Given the description of an element on the screen output the (x, y) to click on. 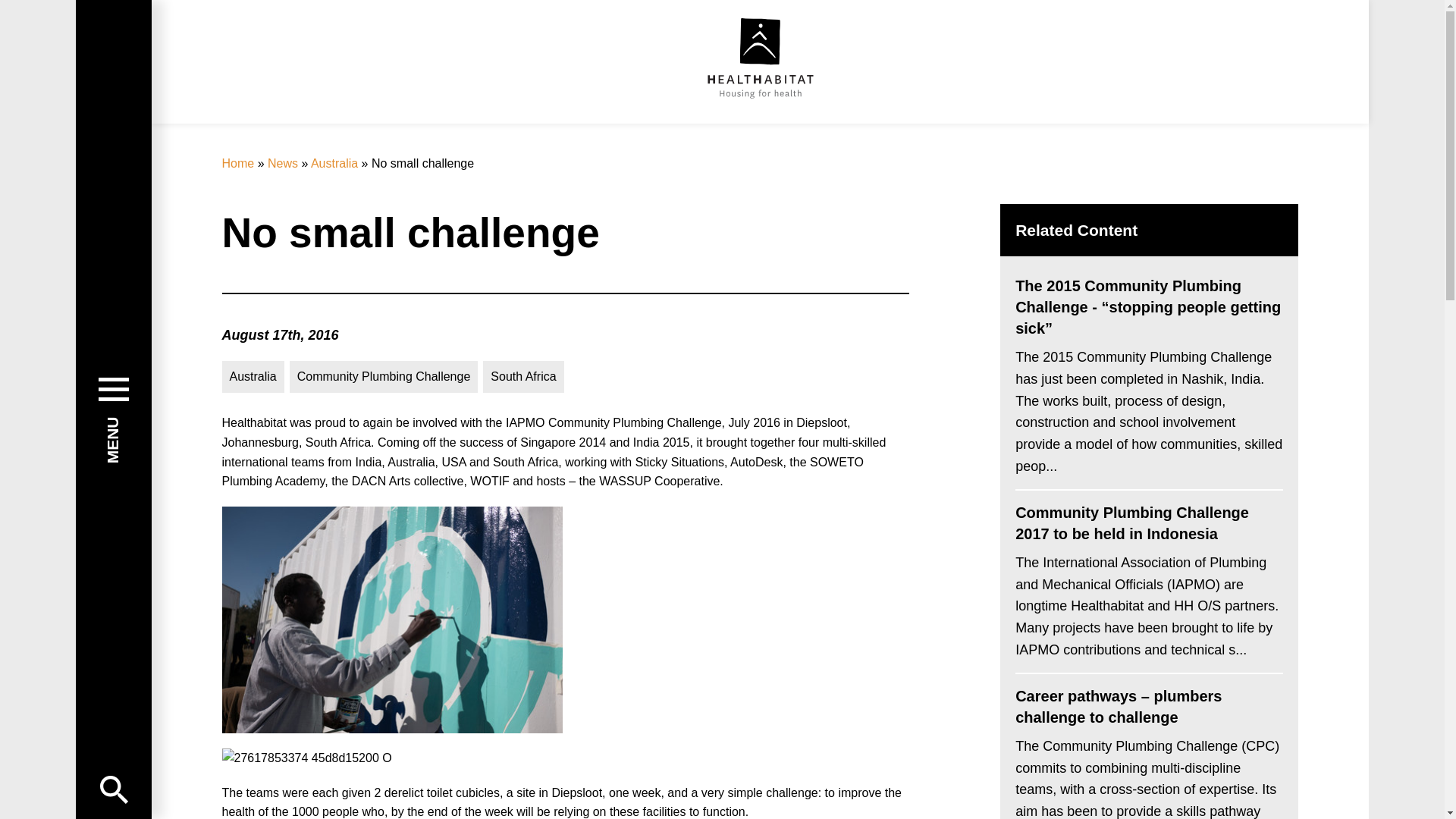
Australia (334, 163)
27617852914 1723106422 O (391, 619)
South Africa (523, 377)
27617853374 45d8d15200 O (306, 758)
Home (237, 163)
Community Plumbing Challenge (384, 377)
News (282, 163)
Community Plumbing Challenge 2017 to be held in Indonesia (1148, 523)
Open Menu (114, 789)
Australia (252, 377)
